Given the description of an element on the screen output the (x, y) to click on. 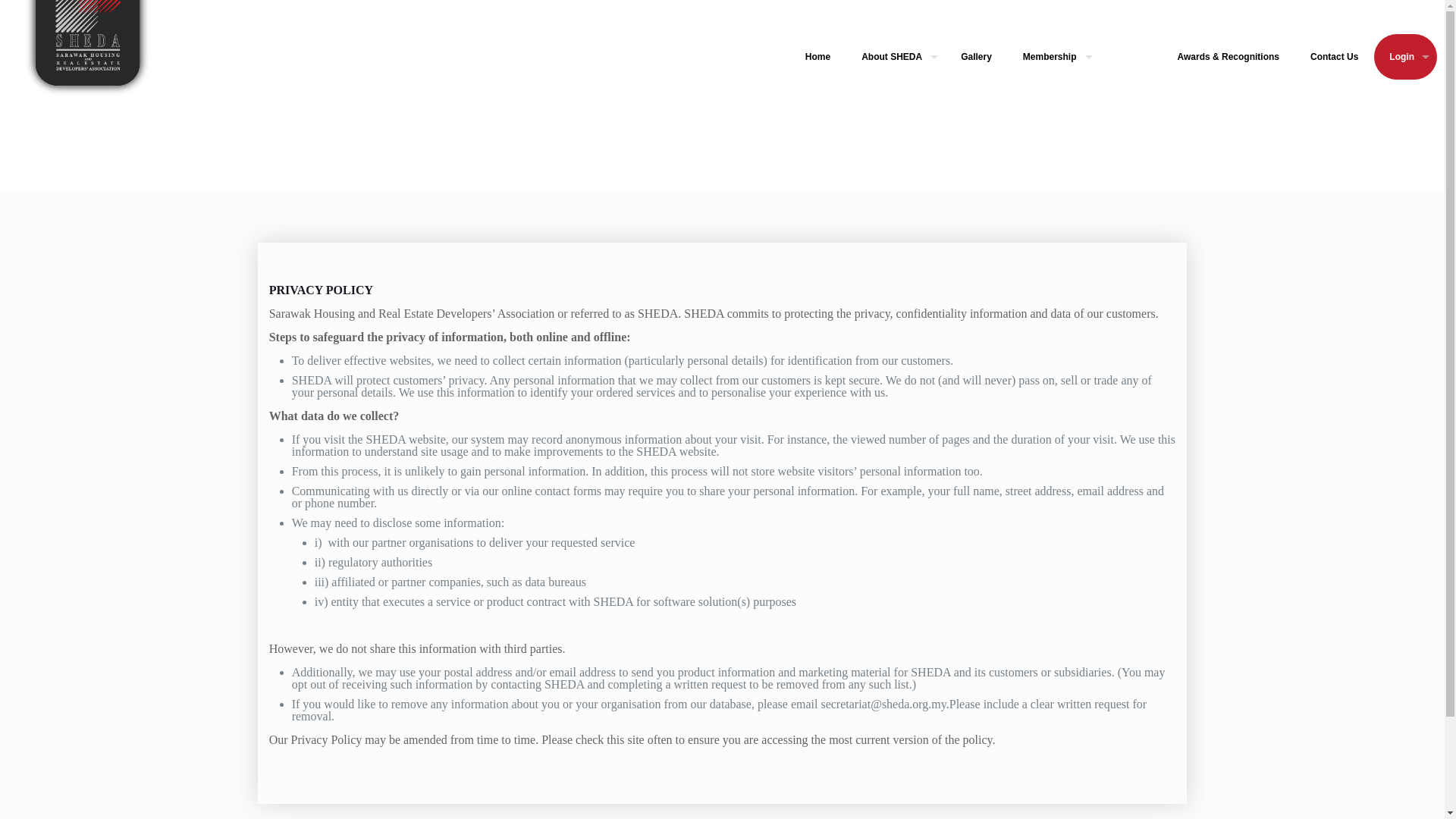
About SHEDA (894, 56)
Login (1405, 56)
Contact Us (1334, 56)
Gallery (975, 56)
Membership (1053, 56)
